Given the description of an element on the screen output the (x, y) to click on. 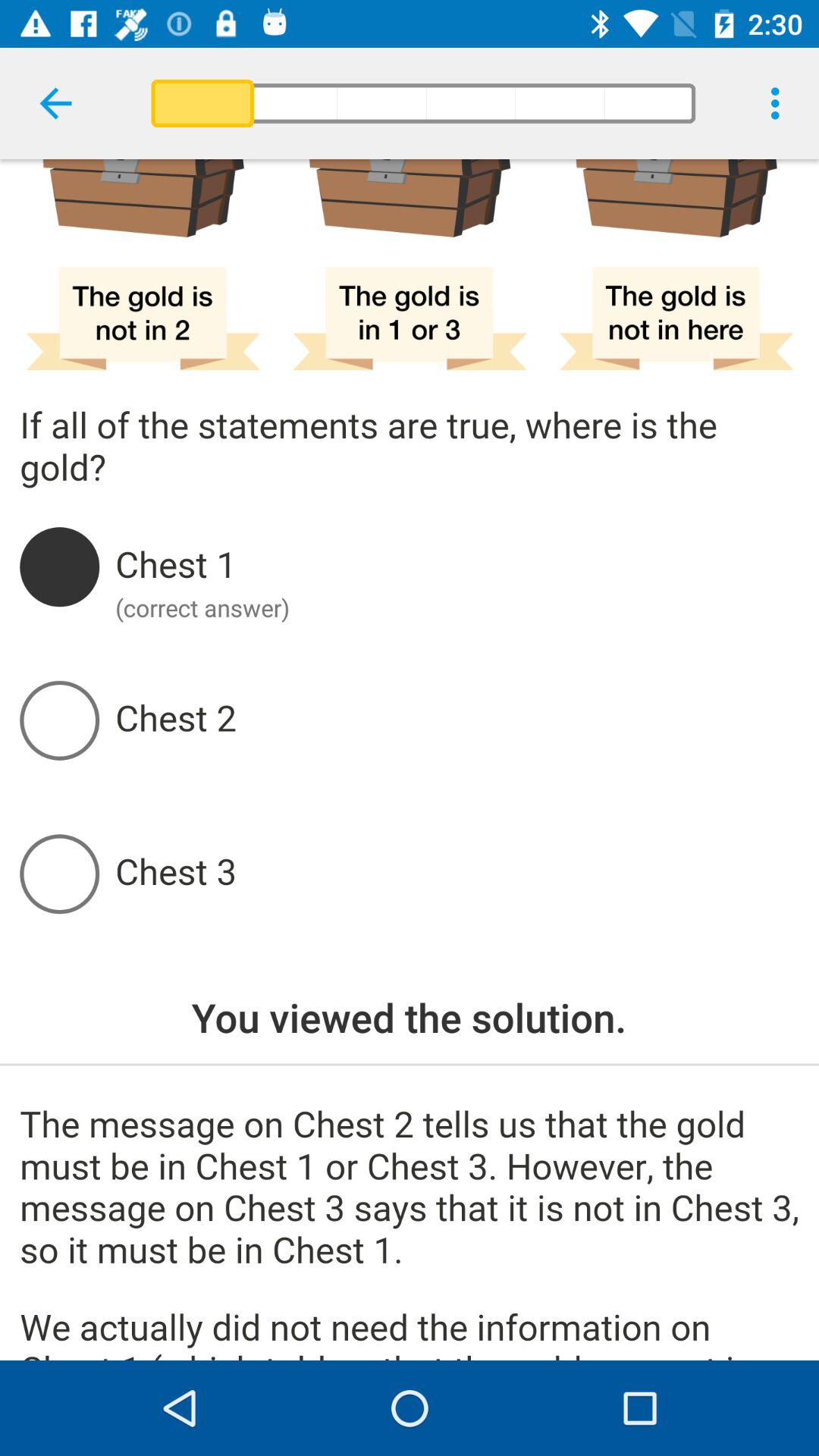
select option (457, 873)
